Given the description of an element on the screen output the (x, y) to click on. 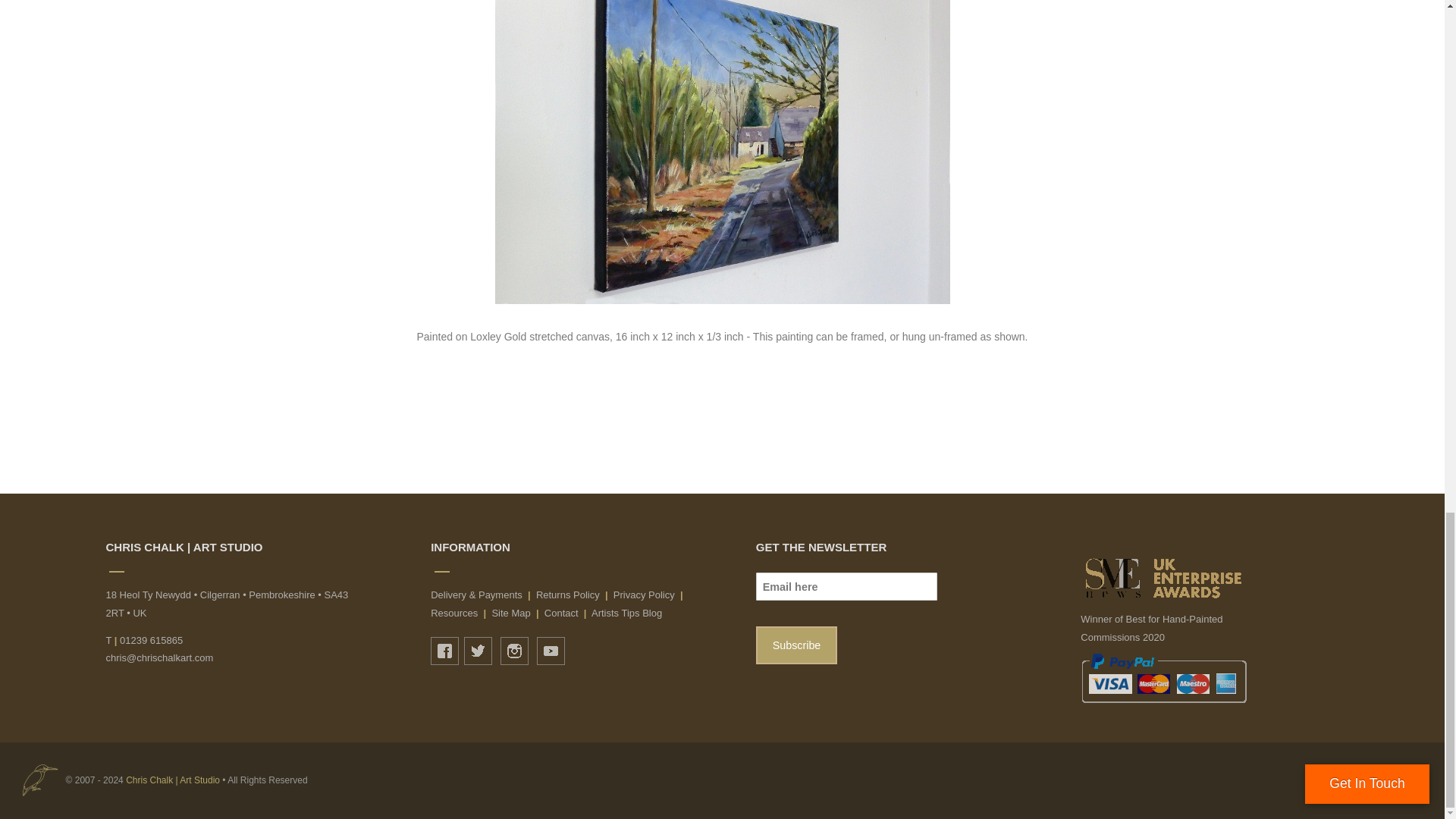
Returns Policy (567, 594)
Subscribe (796, 645)
Subscribe (796, 645)
Site Map (510, 613)
Privacy Policy (643, 594)
Artists Tips Blog (626, 613)
Contact (561, 613)
Resources (453, 613)
